Given the description of an element on the screen output the (x, y) to click on. 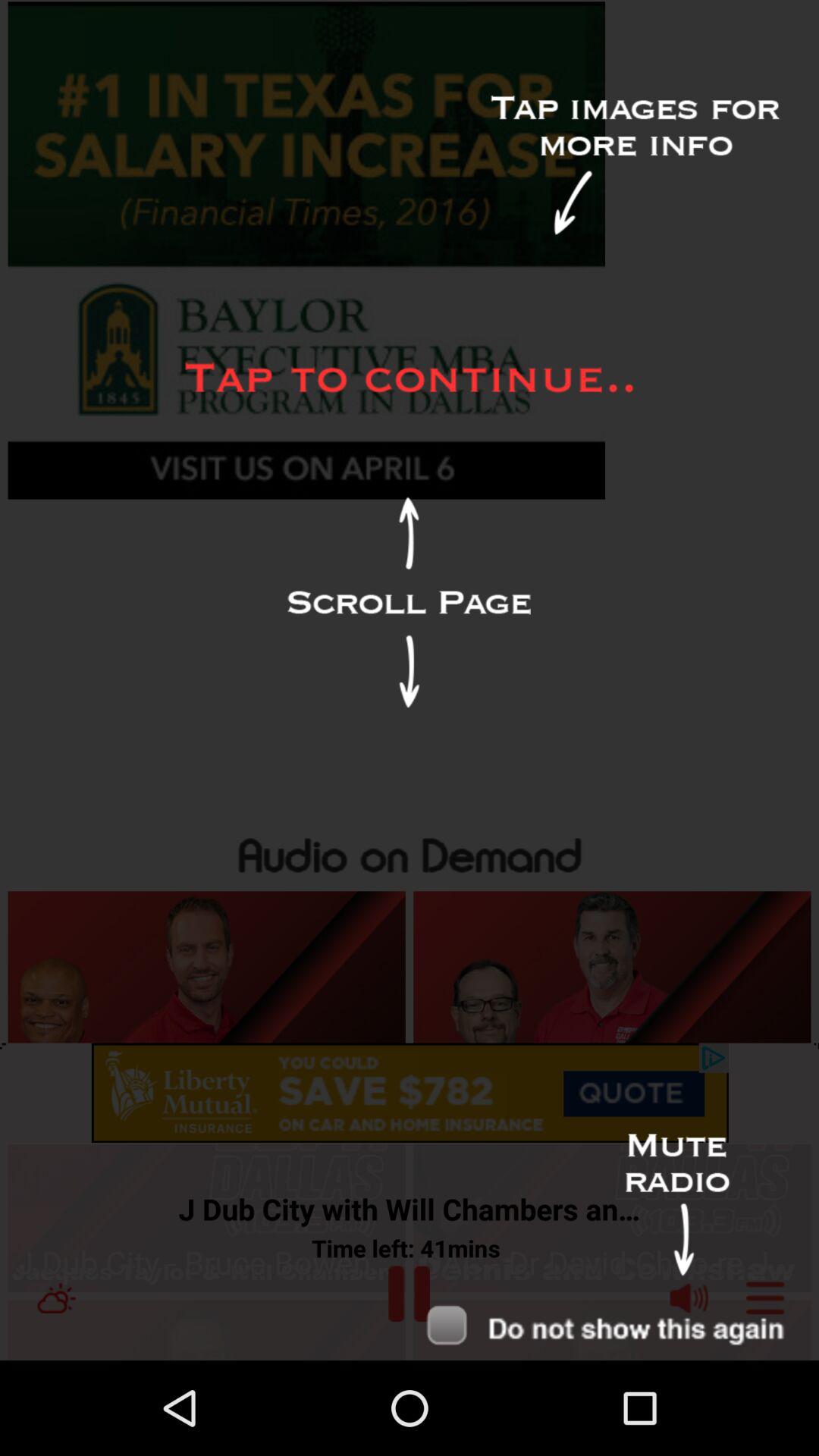
click the button which is showing the down arrow in the last (616, 1325)
click on bottom text (612, 1329)
click on the text mute radio (677, 1205)
click on tap images for more info (634, 165)
select the text  which says audio on demand (409, 852)
